Given the description of an element on the screen output the (x, y) to click on. 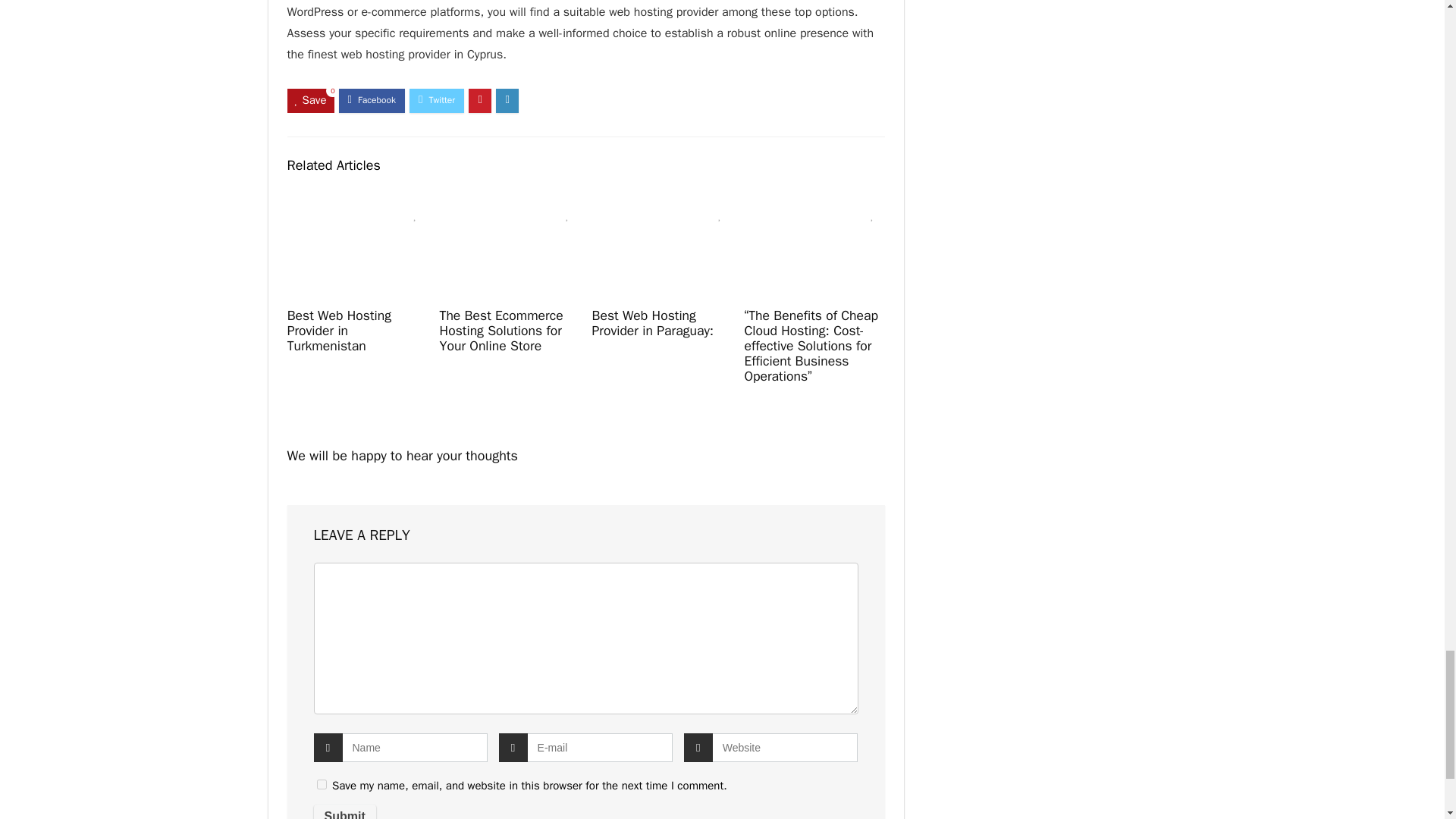
yes (321, 784)
Submit (344, 811)
